Given the description of an element on the screen output the (x, y) to click on. 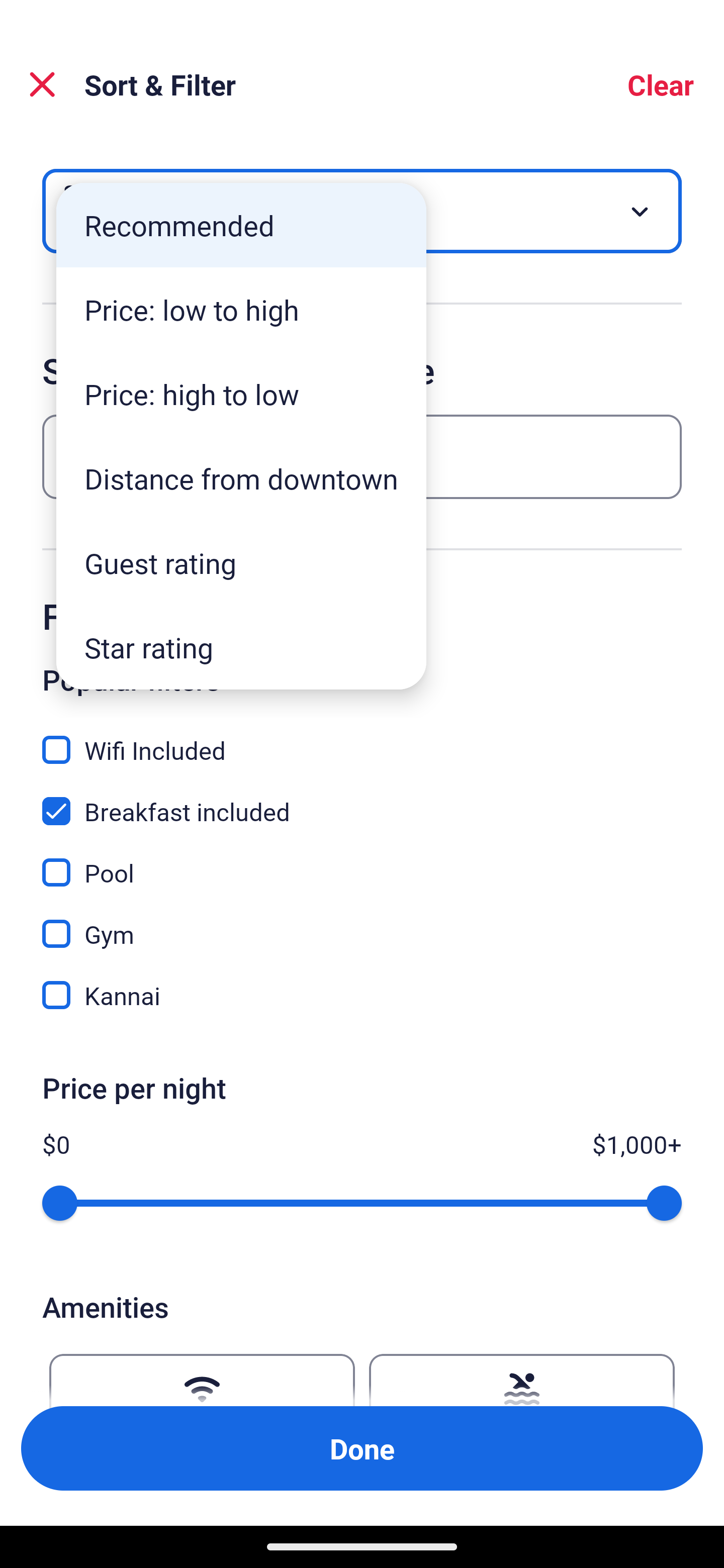
Price: low to high (241, 309)
Price: high to low (241, 393)
Distance from downtown (241, 477)
Guest rating (241, 562)
Star rating (241, 647)
